Given the description of an element on the screen output the (x, y) to click on. 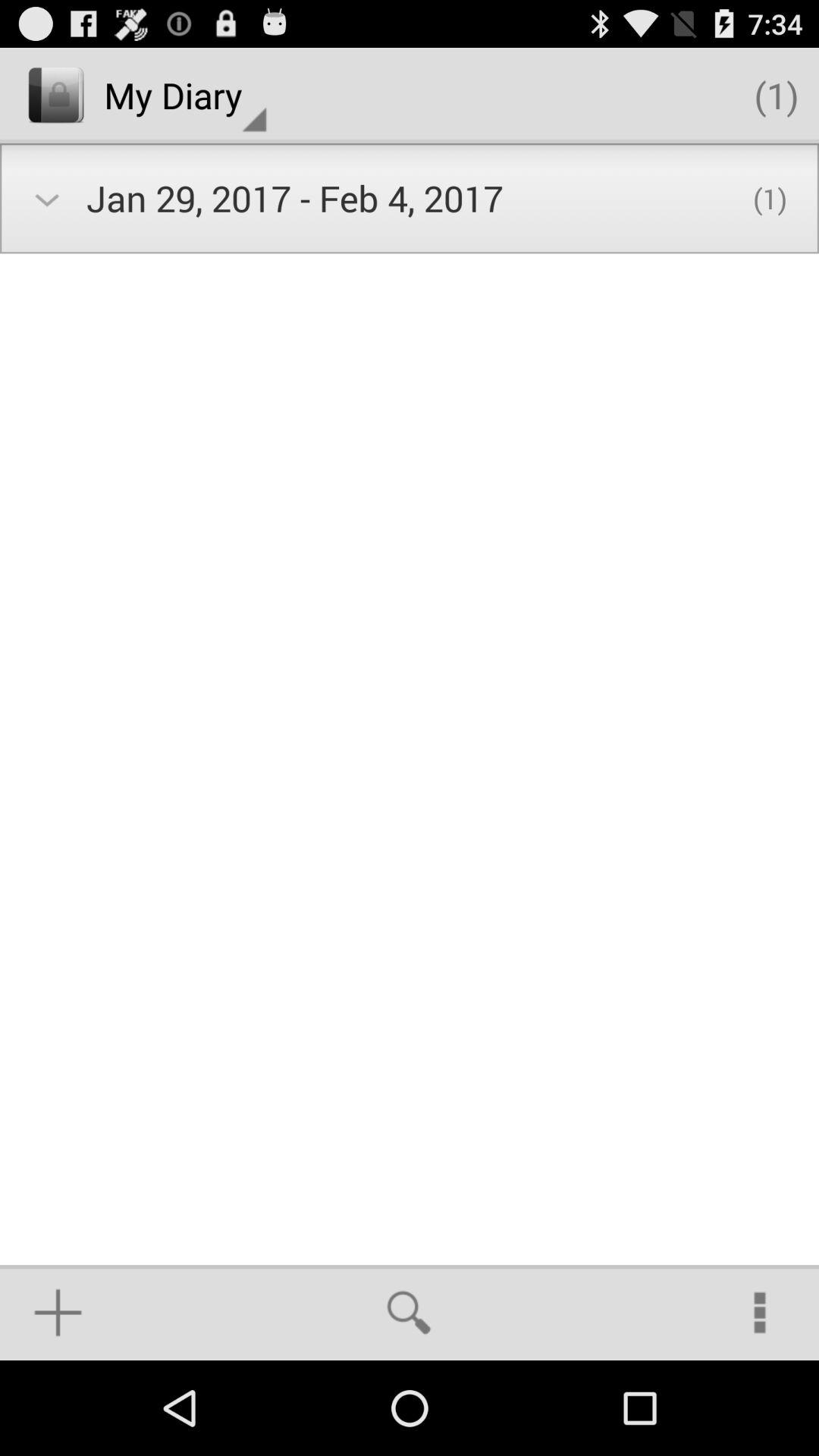
launch the item below jan 29 2017 (408, 1312)
